Given the description of an element on the screen output the (x, y) to click on. 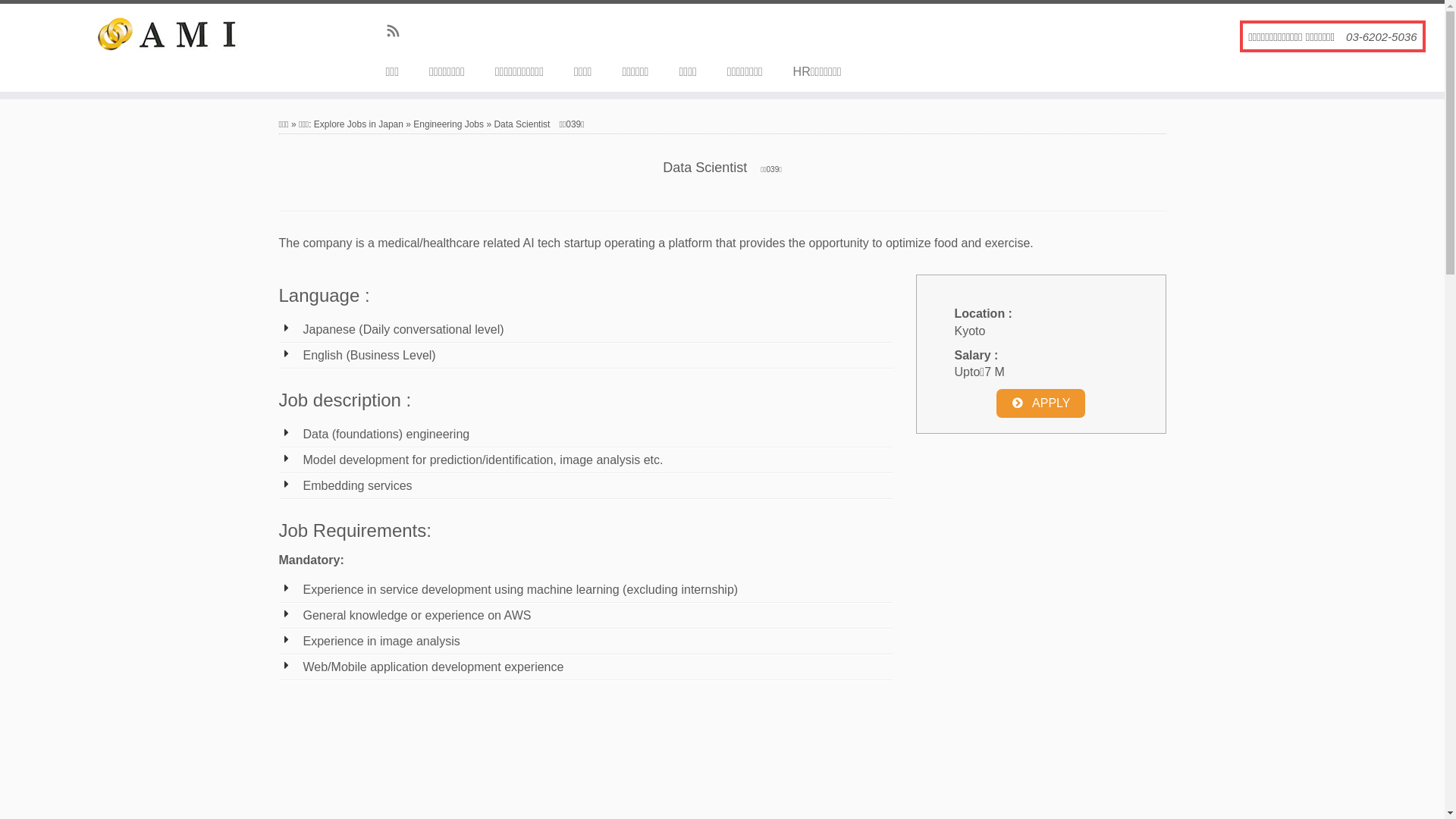
Engineering Jobs Element type: text (448, 124)
APPLY Element type: text (1040, 403)
